Given the description of an element on the screen output the (x, y) to click on. 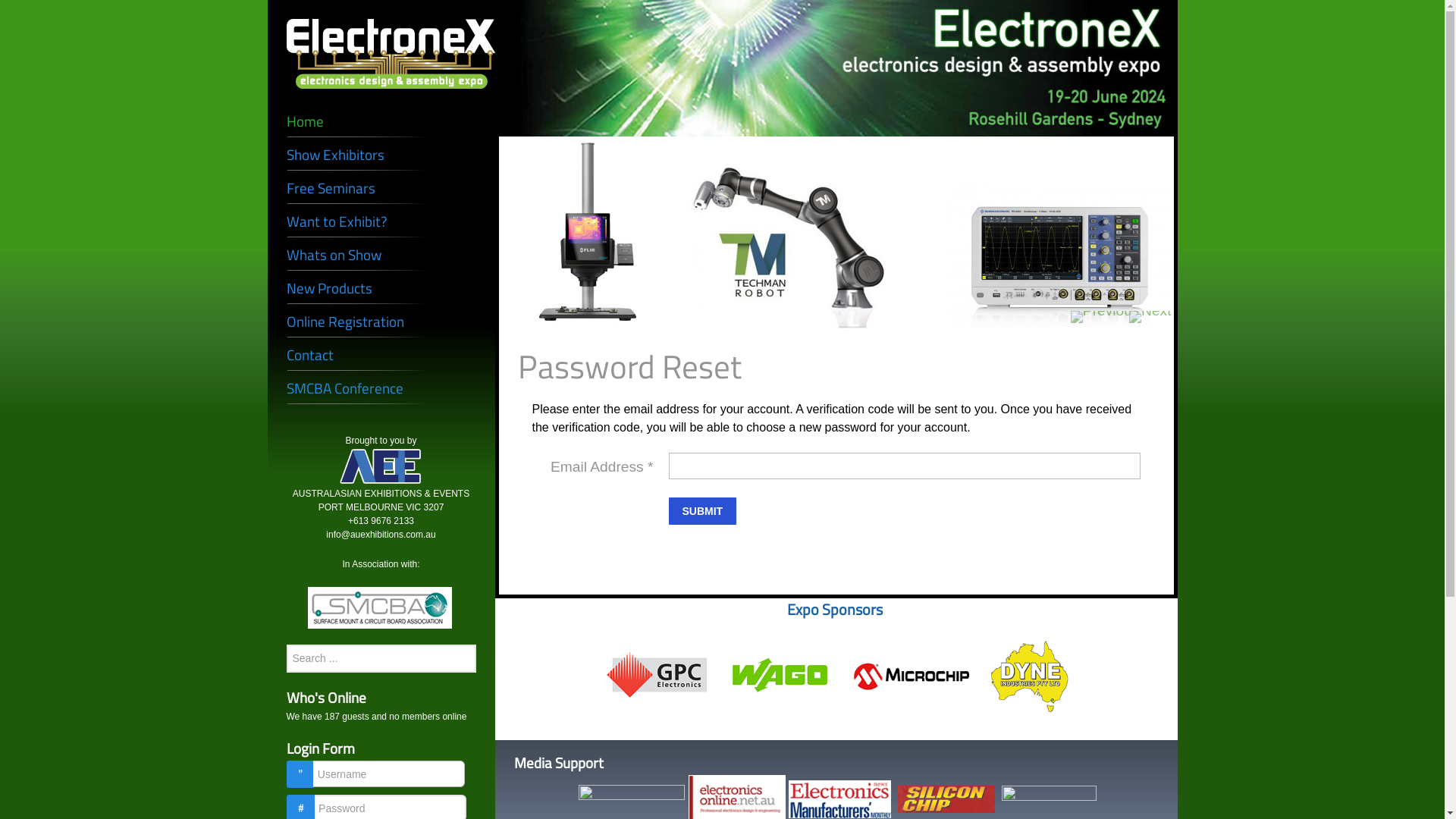
Free Seminars Element type: text (381, 187)
Australasian Exhibitions & Events Element type: hover (381, 466)
Home Element type: text (381, 121)
SMCBA Conference Element type: text (381, 387)
Show Exhibitors Element type: text (381, 154)
SMCBA Element type: hover (379, 607)
Next Element type: hover (1149, 316)
SUBMIT Element type: text (702, 511)
Want to Exhibit? Element type: text (381, 221)
Contact Element type: text (381, 354)
Previous Element type: hover (1104, 316)
info@auexhibitions.com.au Element type: text (380, 534)
New Products Element type: text (381, 287)
Online Registration Element type: text (381, 321)
Whats on Show Element type: text (381, 254)
